Given the description of an element on the screen output the (x, y) to click on. 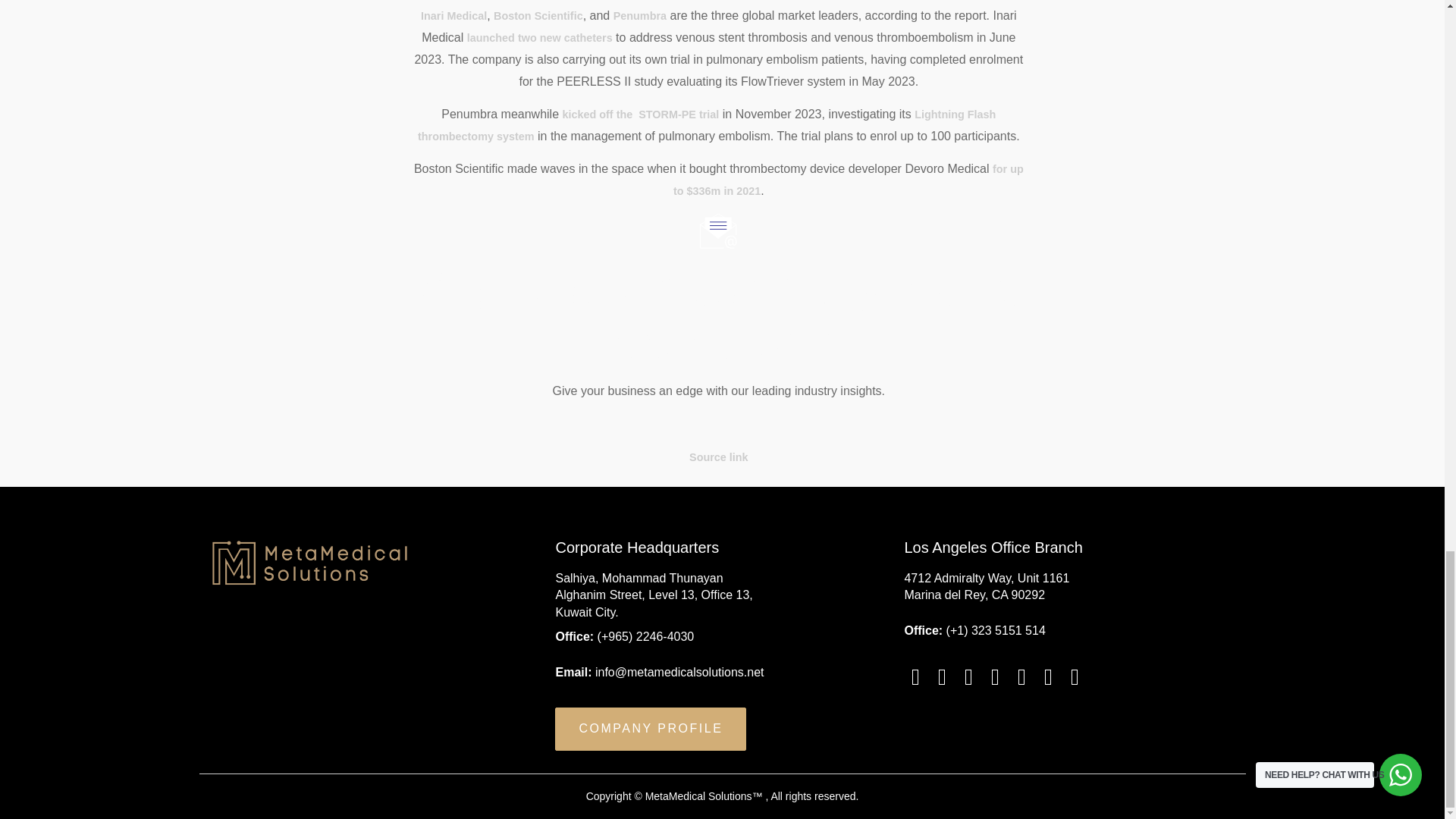
Inari Medical (453, 15)
Penumbra (639, 15)
Boston Scientific (538, 15)
kicked off the  STORM-PE trial (640, 114)
Source link (718, 457)
Lightning Flash thrombectomy system (706, 125)
COMPANY PROFILE (649, 729)
launched two new catheters (539, 37)
